Given the description of an element on the screen output the (x, y) to click on. 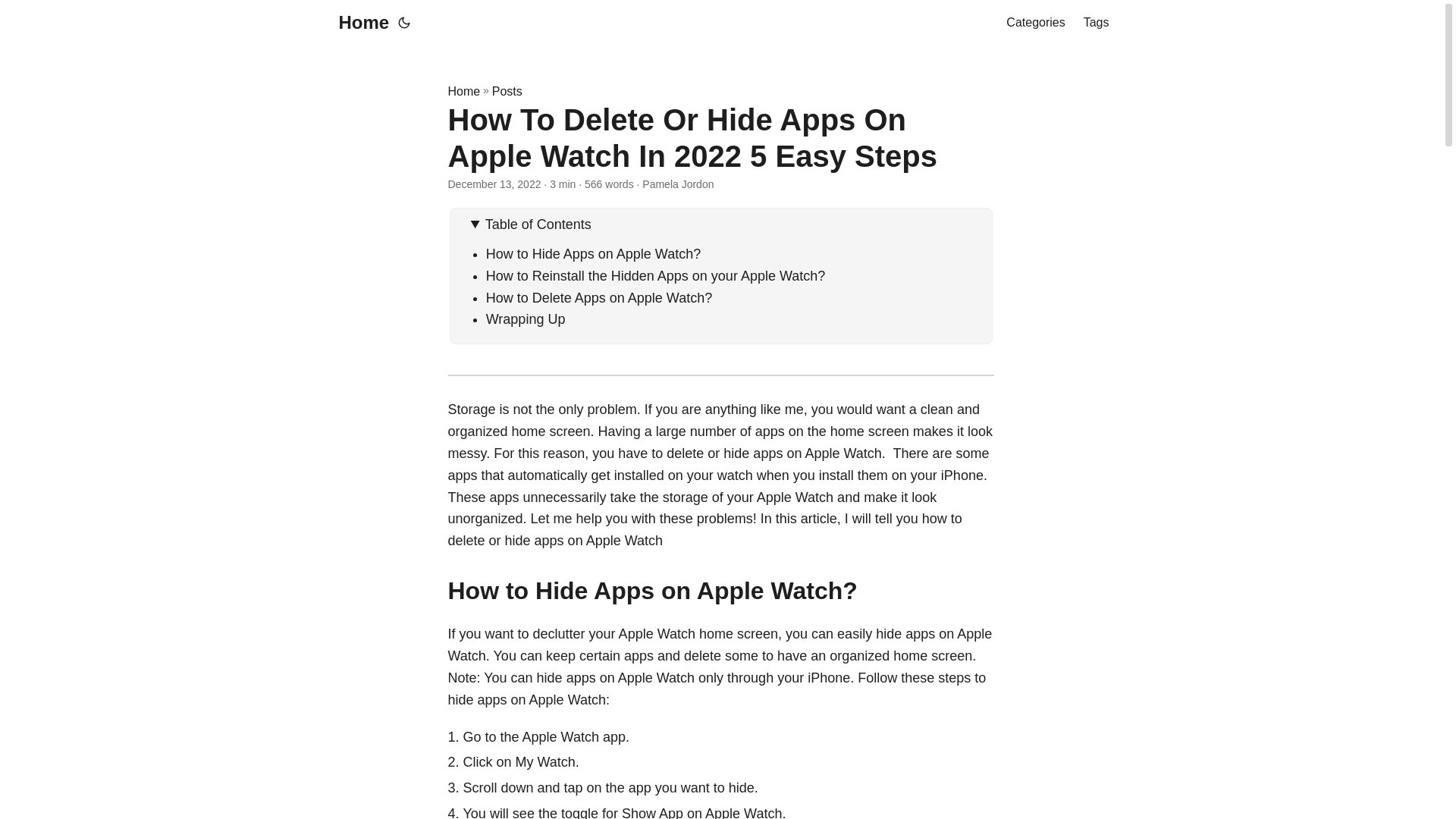
Wrapping Up (526, 319)
Home (463, 91)
How to Delete Apps on Apple Watch? (599, 297)
How to Reinstall the Hidden Apps on your Apple Watch? (655, 275)
How to Hide Apps on Apple Watch? (593, 253)
Posts (507, 91)
Categories (1035, 22)
Categories (1035, 22)
Home (359, 22)
